Given the description of an element on the screen output the (x, y) to click on. 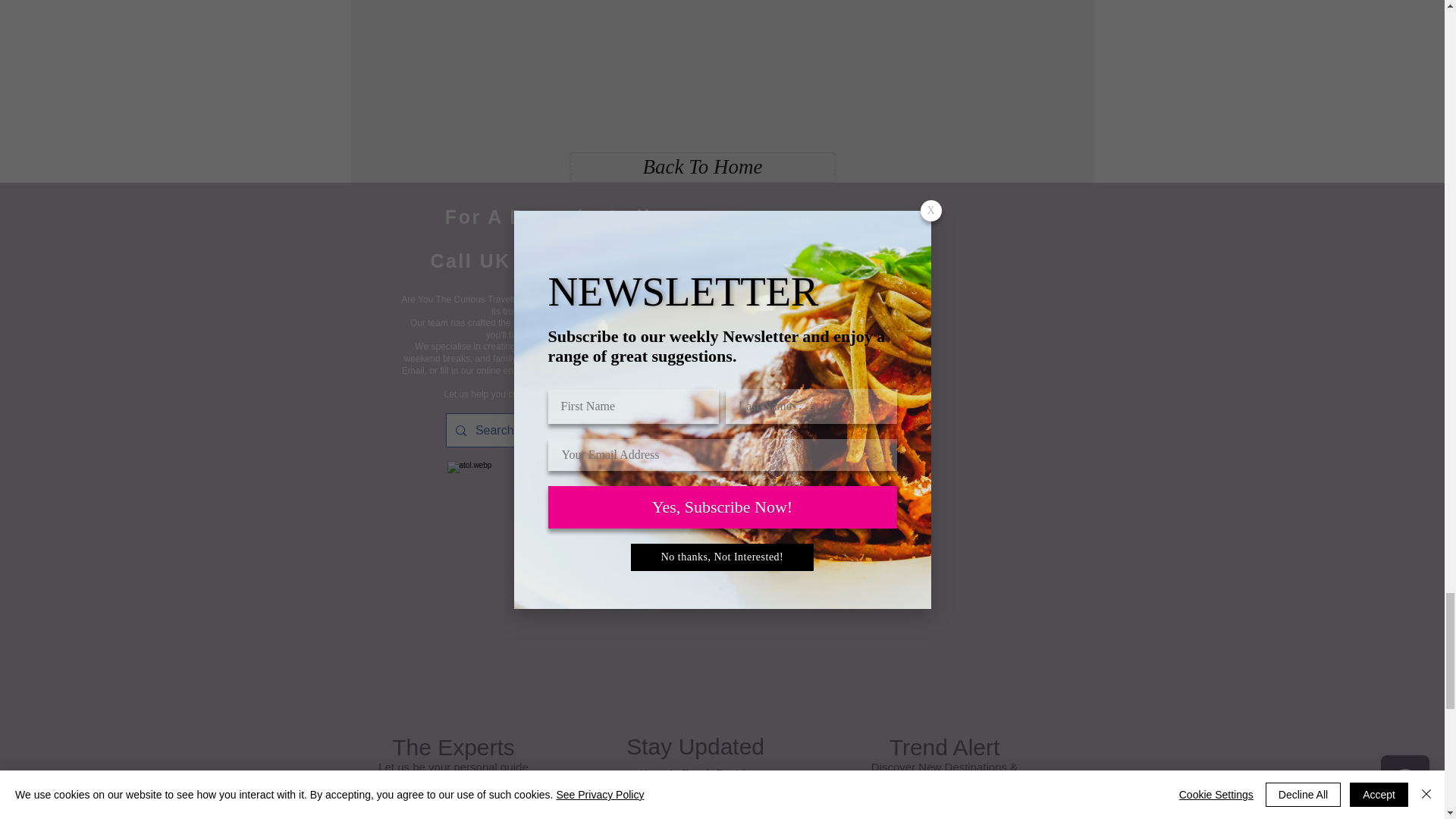
Back To Home (702, 167)
